Given the description of an element on the screen output the (x, y) to click on. 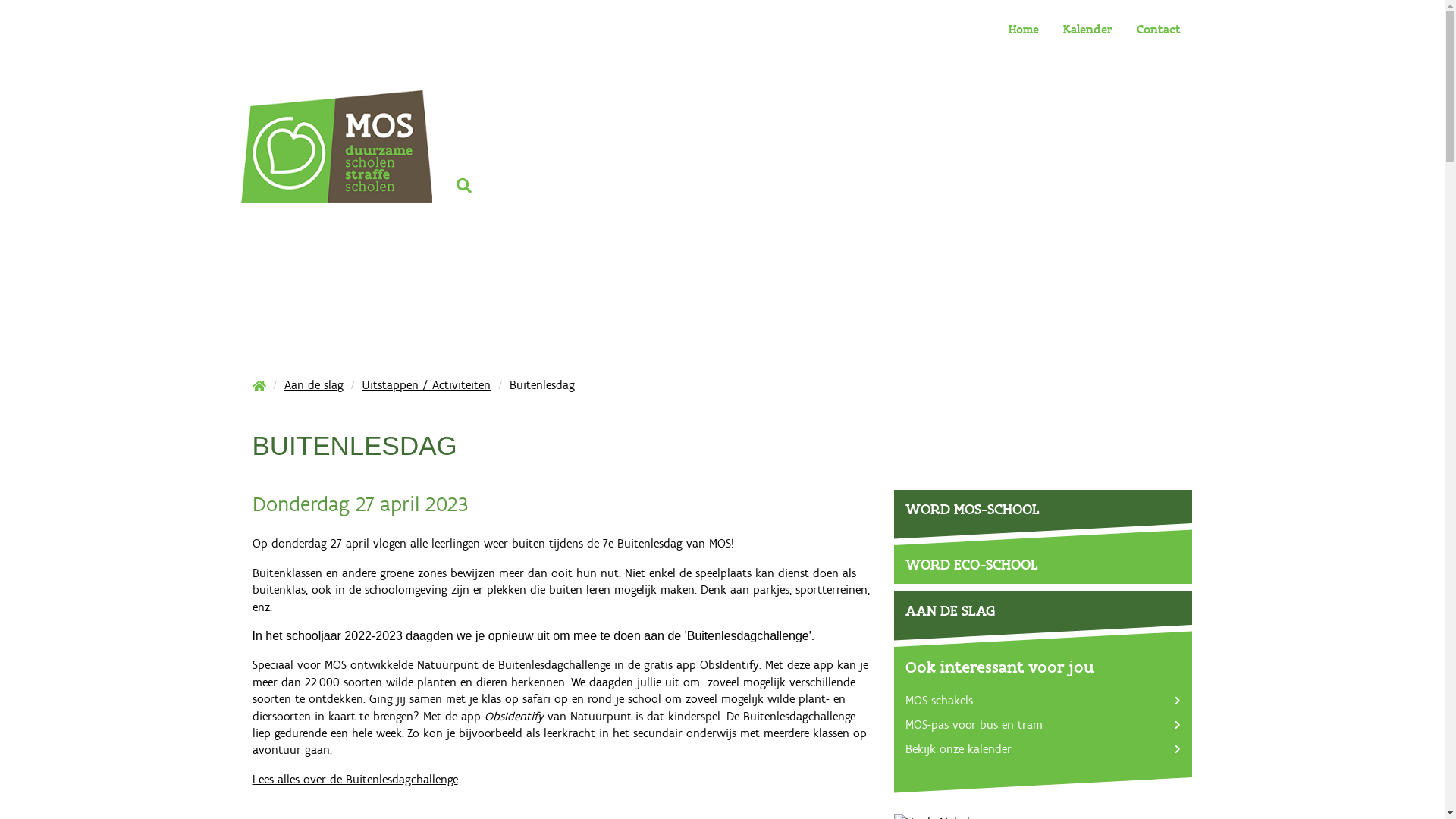
Home Element type: text (1023, 29)
Uitstappen / Activiteiten Element type: text (425, 384)
Ga naar de homepage Element type: hover (336, 185)
MOS-pas voor bus en tram Element type: text (973, 724)
Aan de slag Element type: text (313, 384)
WORD ECO-SCHOOL Element type: text (1043, 564)
MOS-schakels Element type: text (938, 700)
WORD MOS-SCHOOL Element type: text (1043, 505)
Bekijk onze kalender Element type: text (958, 748)
Naar de inhoud Element type: text (0, 0)
Kalender Element type: text (1087, 29)
Lees alles over de Buitenlesdagchallenge Element type: text (354, 778)
AAN DE SLAG Element type: text (1043, 607)
Contact Element type: text (1157, 29)
